Given the description of an element on the screen output the (x, y) to click on. 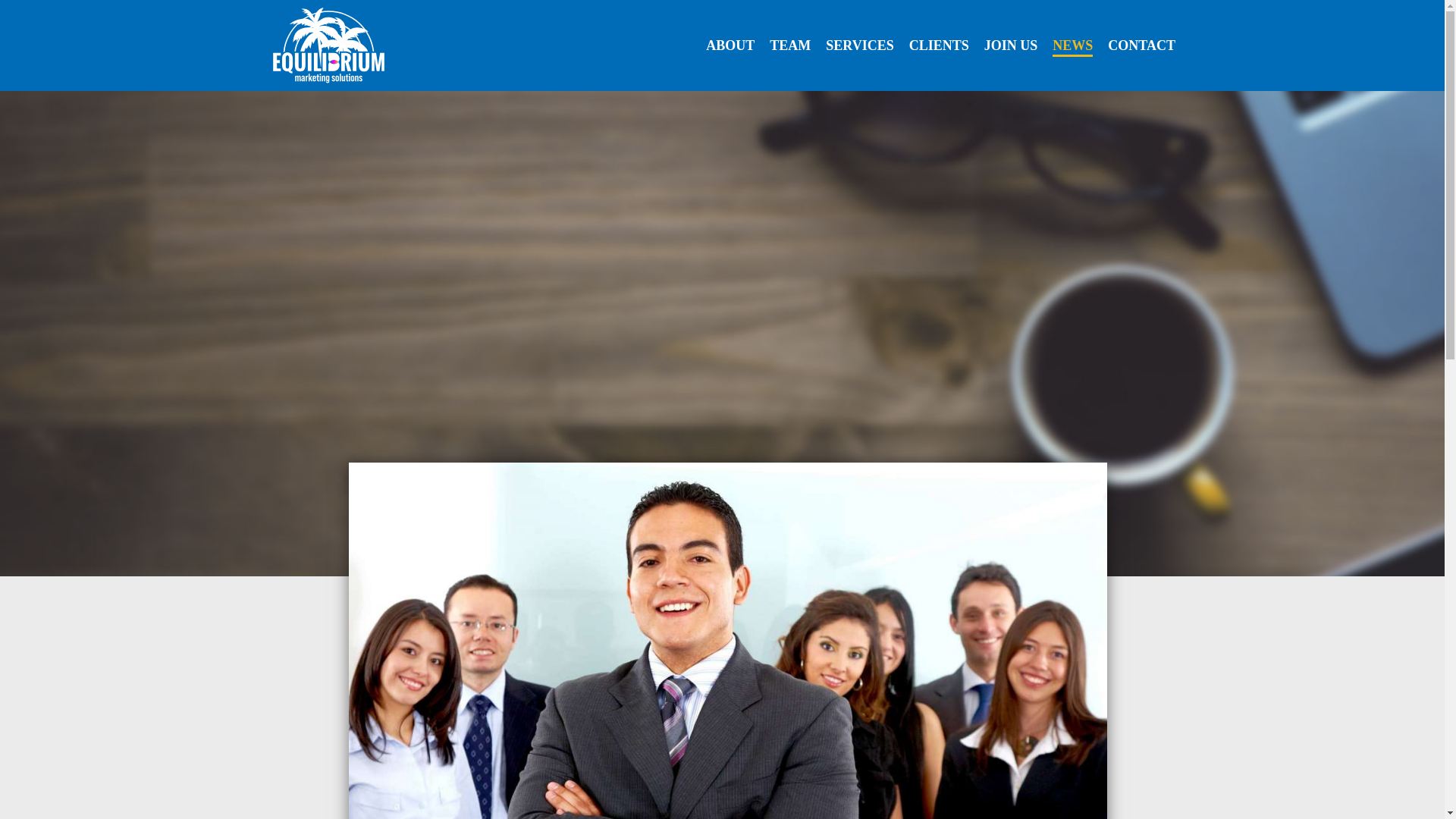
Equilibrium Marketing Solutions (349, 45)
